Given the description of an element on the screen output the (x, y) to click on. 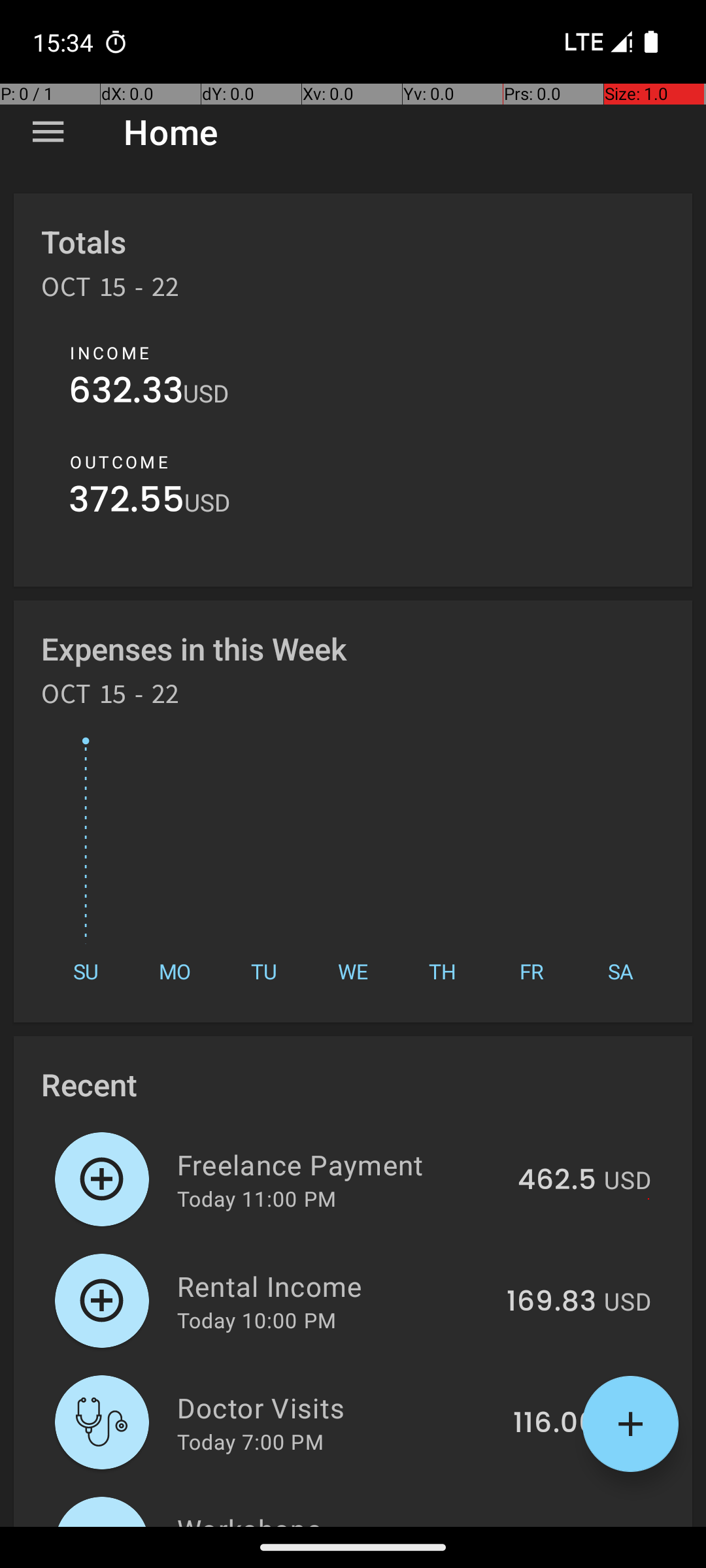
632.33 Element type: android.widget.TextView (125, 393)
372.55 Element type: android.widget.TextView (126, 502)
Today 11:00 PM Element type: android.widget.TextView (256, 1198)
462.5 Element type: android.widget.TextView (556, 1180)
Rental Income Element type: android.widget.TextView (334, 1285)
Today 10:00 PM Element type: android.widget.TextView (256, 1320)
169.83 Element type: android.widget.TextView (550, 1301)
Doctor Visits Element type: android.widget.TextView (337, 1407)
Today 7:00 PM Element type: android.widget.TextView (250, 1441)
116.06 Element type: android.widget.TextView (554, 1423)
Workshops Element type: android.widget.TextView (334, 1518)
167.46 Element type: android.widget.TextView (551, 1524)
